Given the description of an element on the screen output the (x, y) to click on. 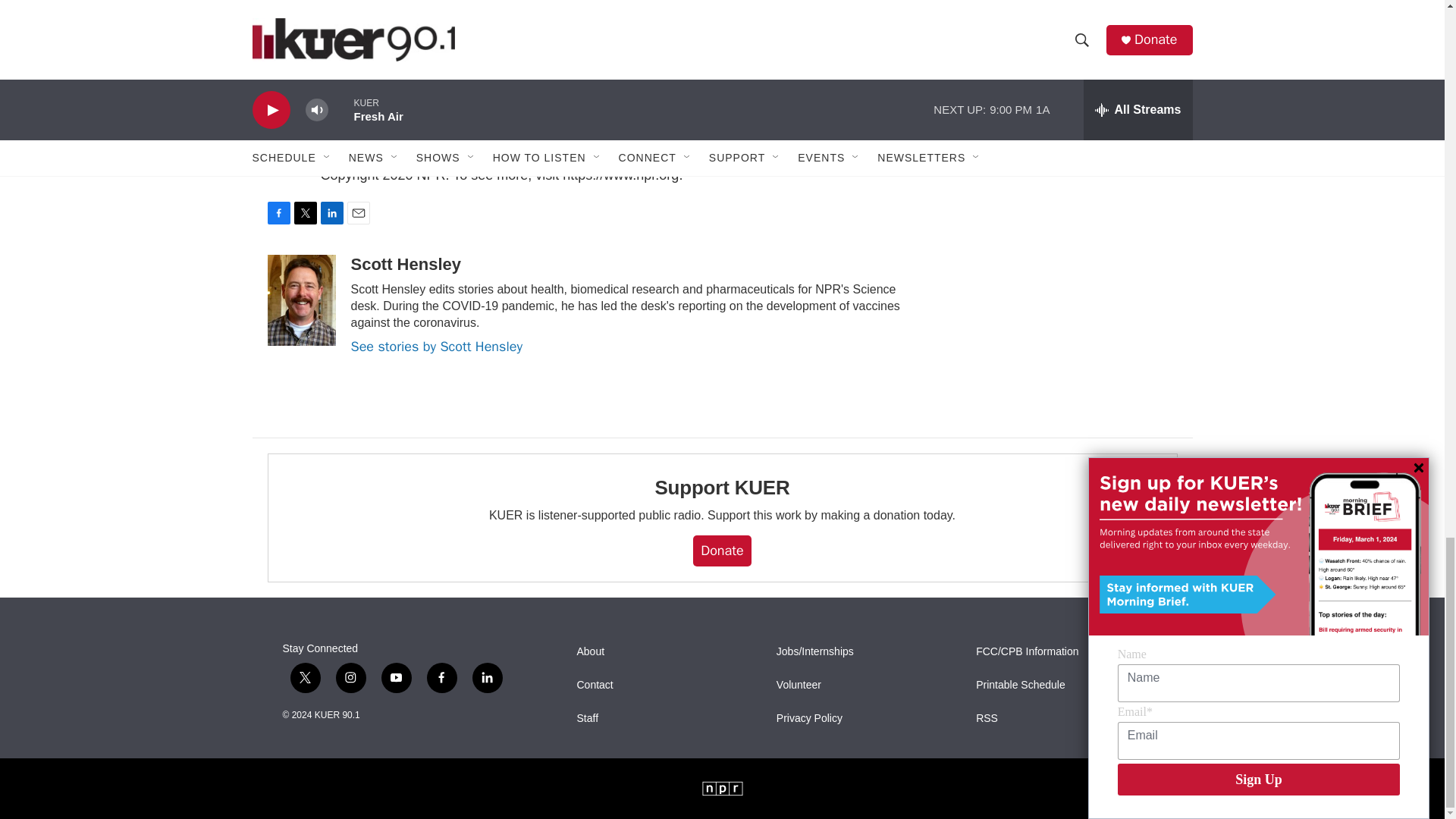
3rd party ad content (1062, 33)
